Given the description of an element on the screen output the (x, y) to click on. 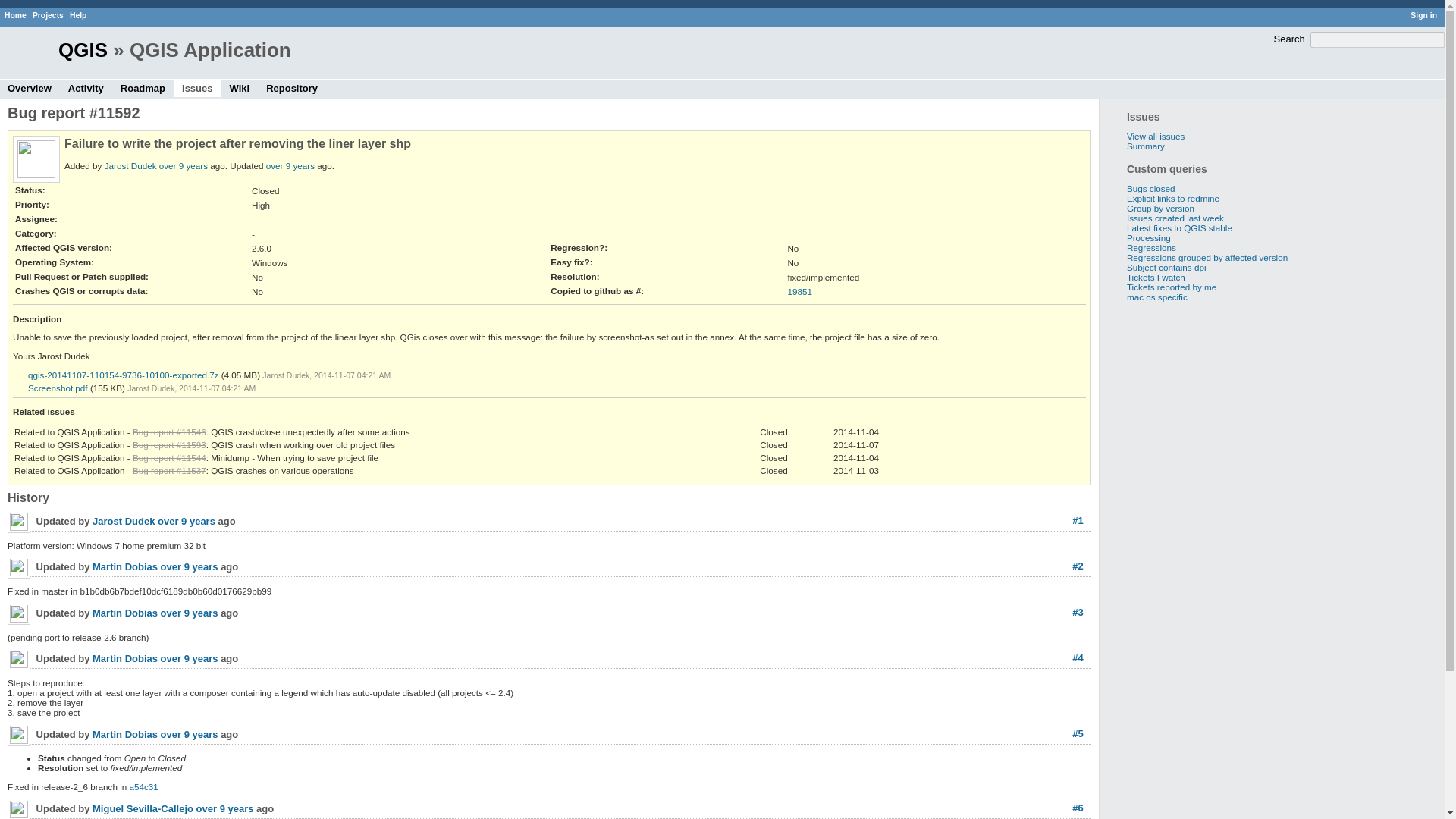
2014-11-07 08:55 AM (189, 659)
Search (1289, 39)
mac os specific (1157, 296)
Bugs closed (1150, 188)
Regressions grouped by affected version (1206, 257)
Issues (196, 88)
Tickets I watch (1155, 276)
2014-11-11 02:46 AM (224, 808)
Jarost Dudek (123, 521)
Issues created last week (1175, 217)
Subject contains dpi (1166, 266)
Overview (29, 88)
Explicit links to redmine (1173, 198)
19851 (799, 291)
